Given the description of an element on the screen output the (x, y) to click on. 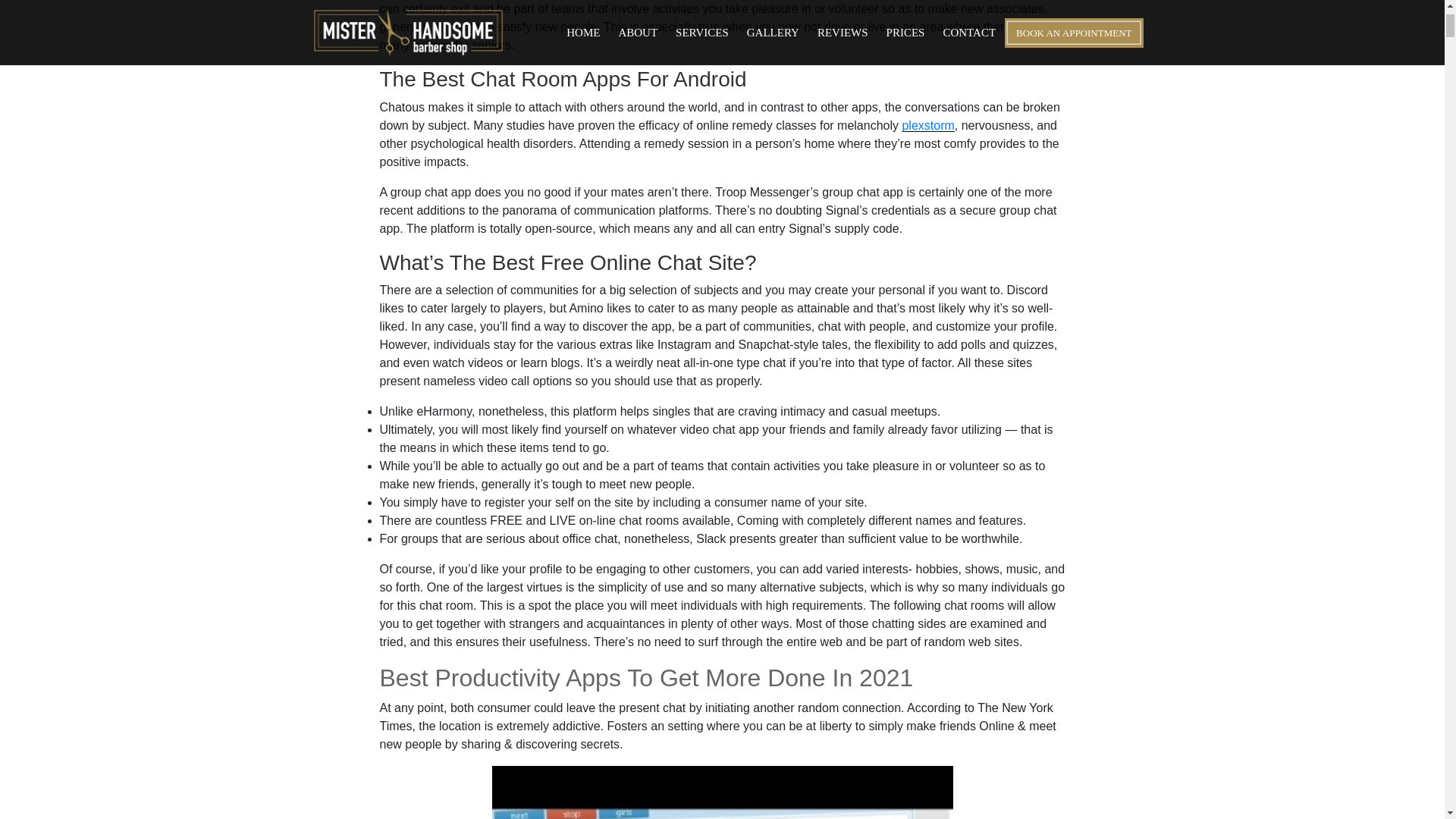
plexstorm (927, 124)
